Given the description of an element on the screen output the (x, y) to click on. 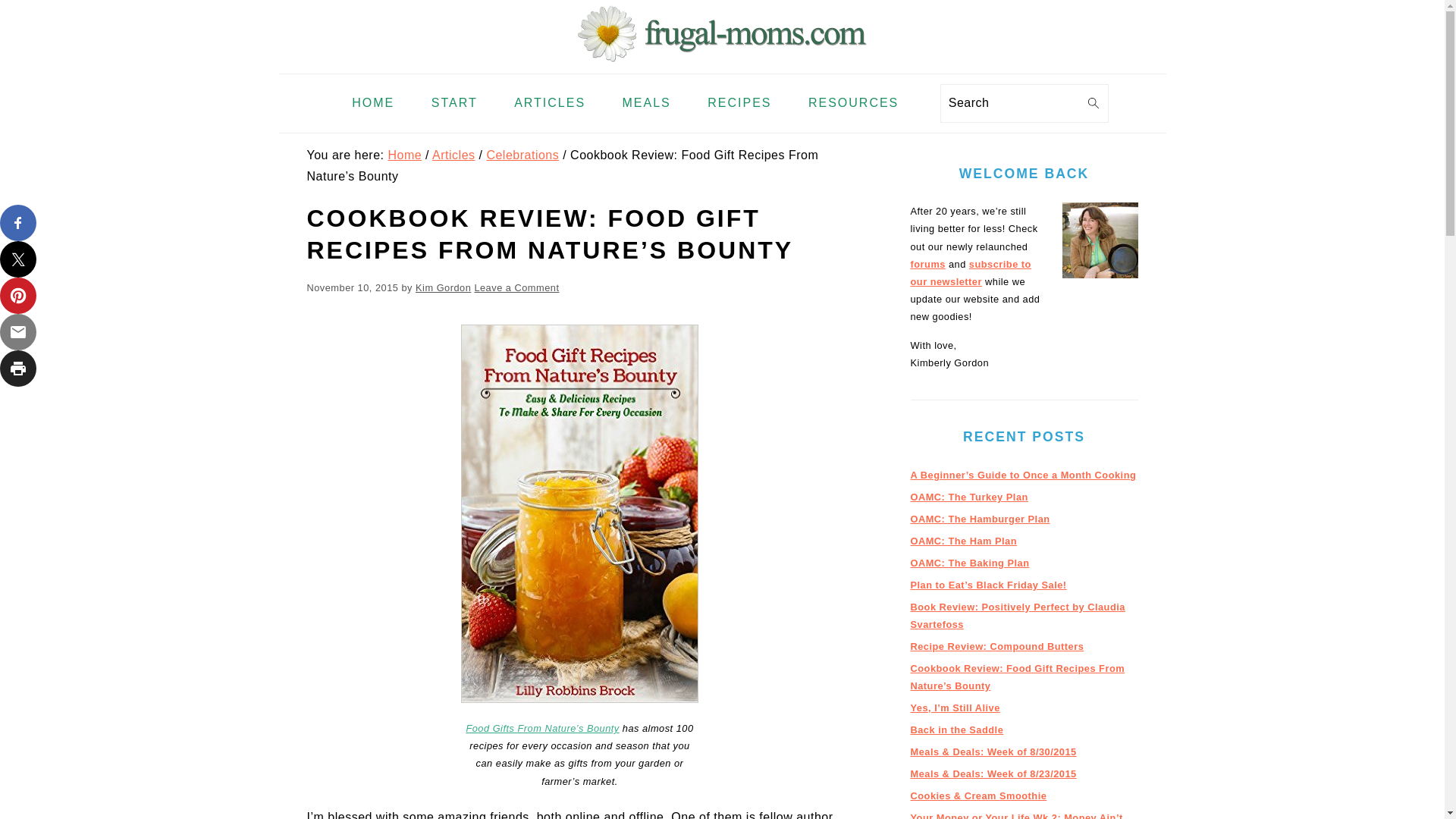
HOME (373, 103)
ARTICLES (549, 103)
Frugal-Moms.com (721, 61)
RECIPES (739, 103)
Frugal-Moms.com (721, 33)
MEALS (647, 103)
START (453, 103)
